Given the description of an element on the screen output the (x, y) to click on. 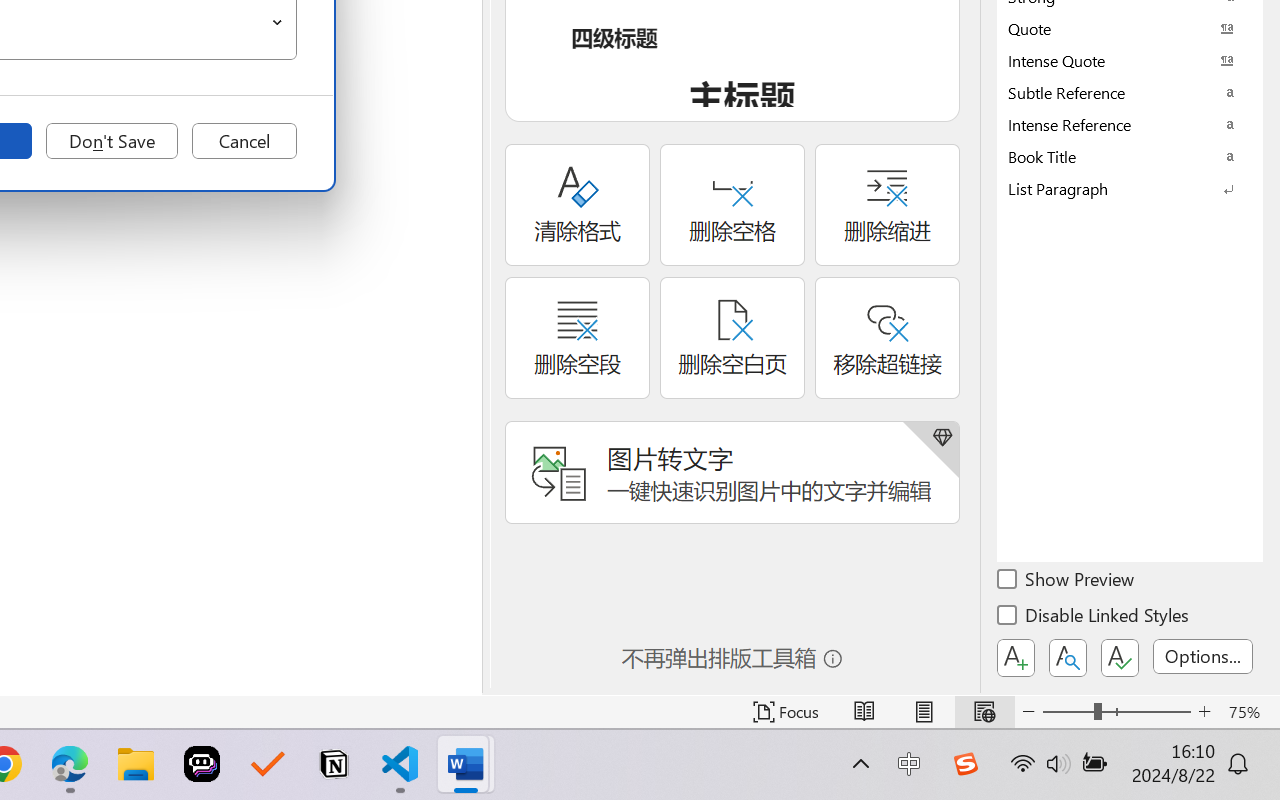
Web Layout (984, 712)
Quote (1130, 28)
Show Preview (1067, 582)
Zoom (1116, 712)
Options... (1203, 656)
Class: NetUIButton (1119, 657)
